Given the description of an element on the screen output the (x, y) to click on. 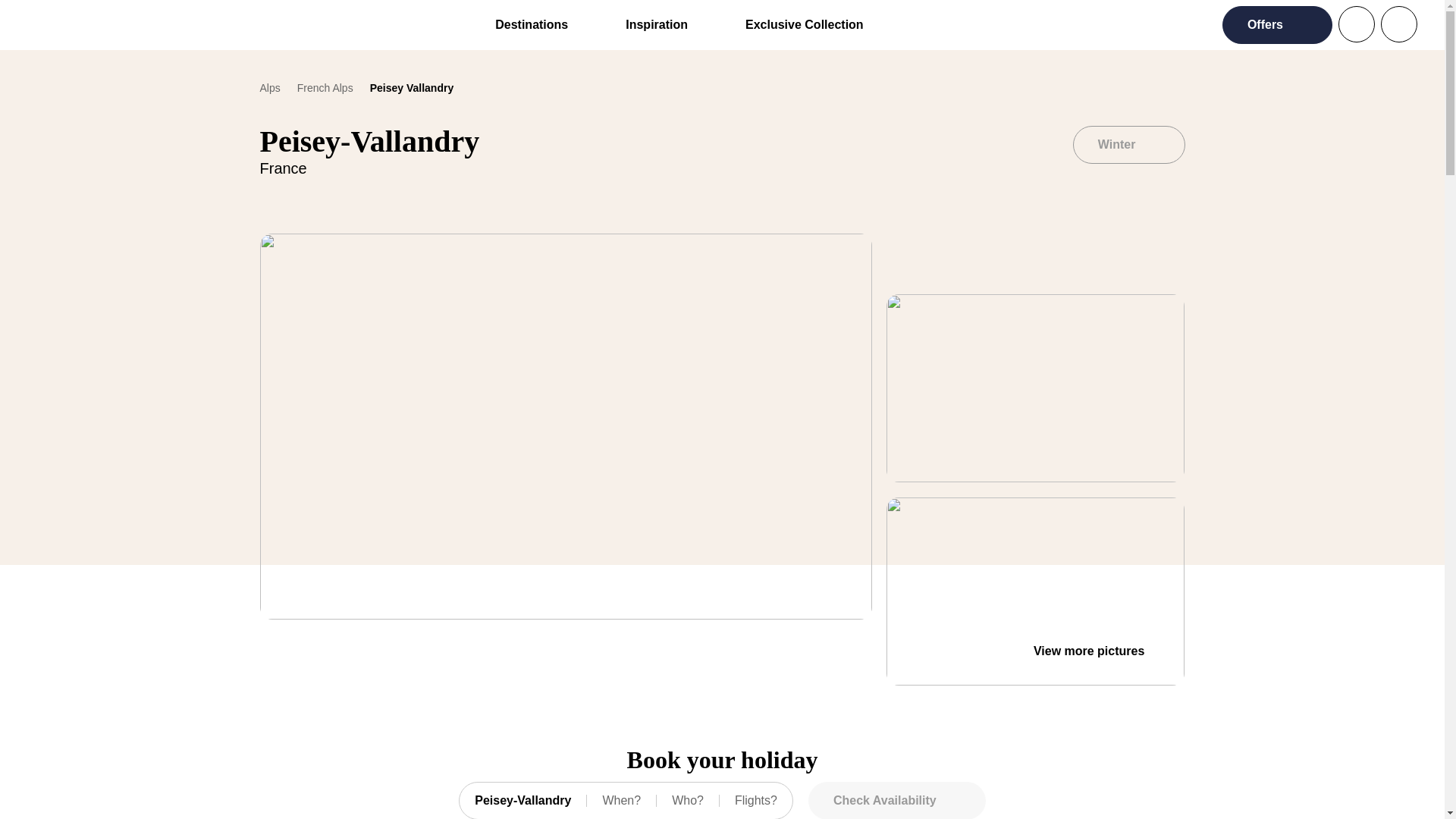
Contact (1398, 23)
Club Med Homepage (75, 24)
Check Availability (896, 800)
View more pictures (1089, 651)
Winter (1129, 144)
Destinations (531, 24)
Offers (1277, 24)
Account (721, 800)
